Given the description of an element on the screen output the (x, y) to click on. 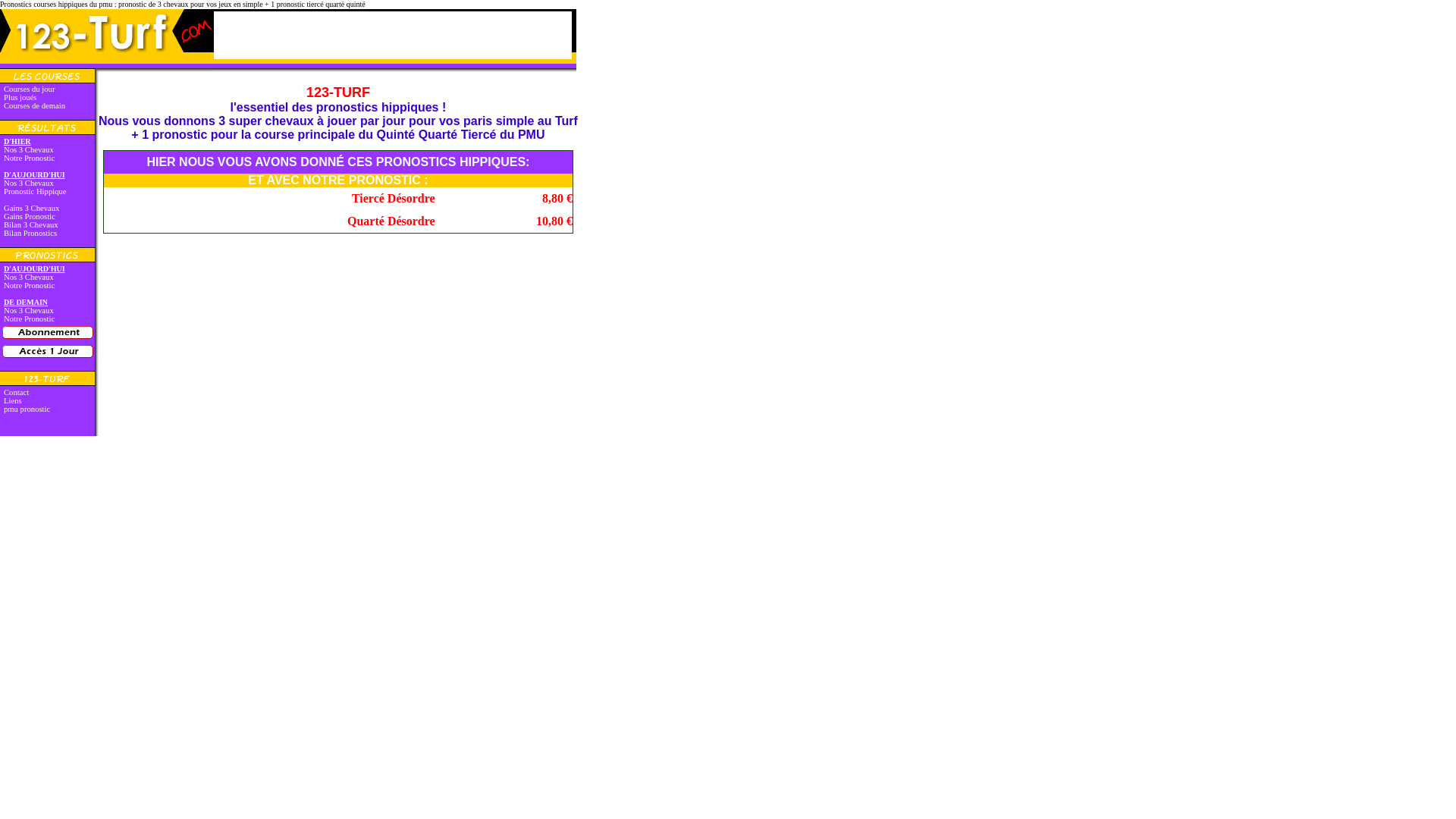
Pronostic Hippique Element type: text (34, 191)
Nos 3 Chevaux Element type: text (28, 182)
Bilan Pronostics Element type: text (29, 233)
Gains 3 Chevaux Element type: text (31, 207)
Courses du jour Element type: text (29, 88)
Nos 3 Chevaux Element type: text (28, 149)
pmu pronostic Element type: text (26, 408)
Gains Pronostic Element type: text (29, 216)
Courses de demain Element type: text (34, 105)
Notre Pronostic Element type: text (28, 157)
Liens Element type: text (12, 400)
Advertisement Element type: hover (390, 34)
Nos 3 Chevaux Element type: text (28, 310)
Contact Element type: text (15, 392)
Notre Pronostic Element type: text (28, 318)
Notre Pronostic Element type: text (28, 285)
Bilan 3 Chevaux Element type: text (30, 224)
Nos 3 Chevaux Element type: text (28, 277)
